Given the description of an element on the screen output the (x, y) to click on. 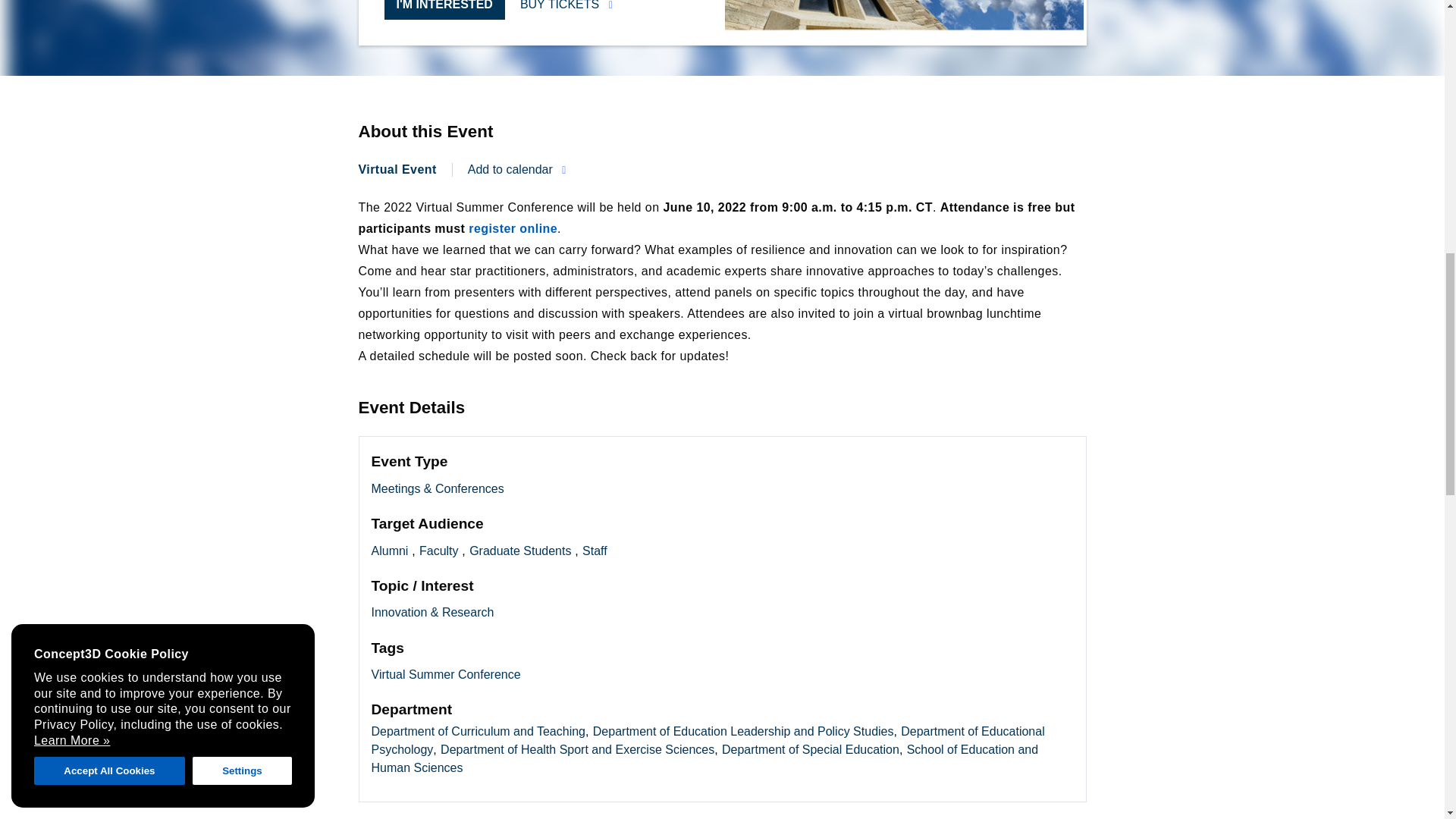
BUY TICKETS (565, 6)
I'M INTERESTED (443, 9)
